Given the description of an element on the screen output the (x, y) to click on. 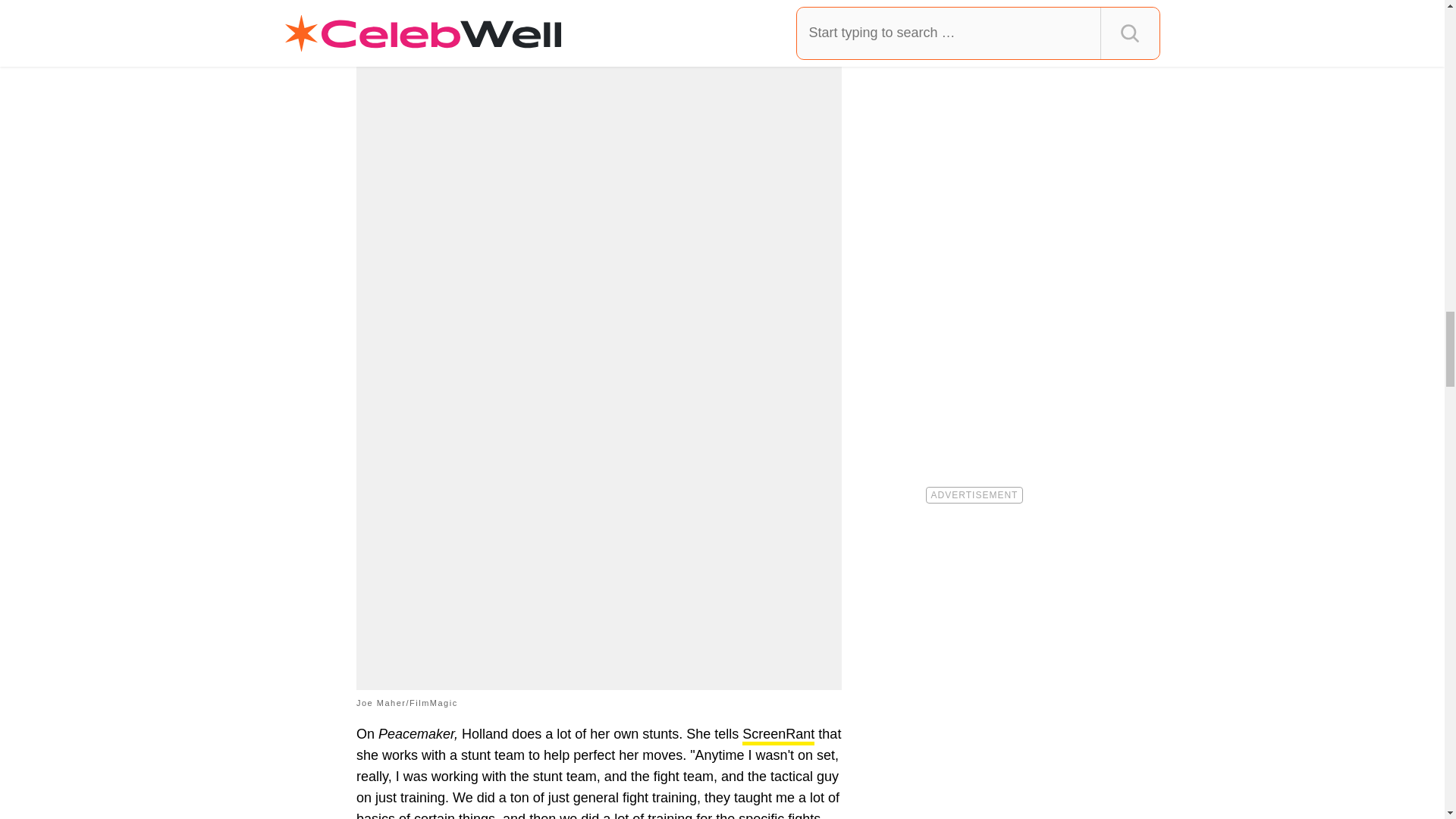
ScreenRant (777, 735)
